Given the description of an element on the screen output the (x, y) to click on. 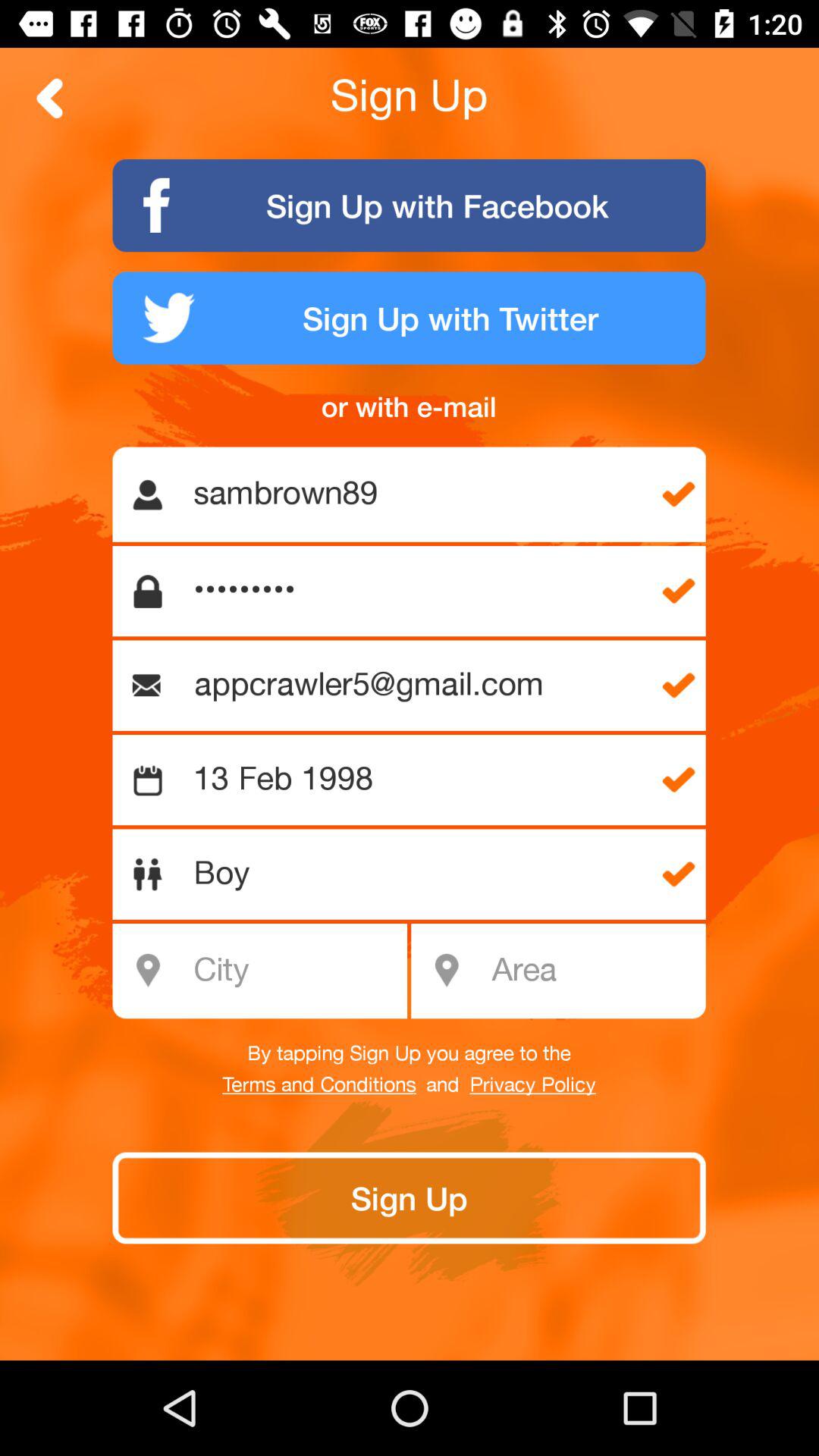
tap item below the by tapping sign (532, 1085)
